Given the description of an element on the screen output the (x, y) to click on. 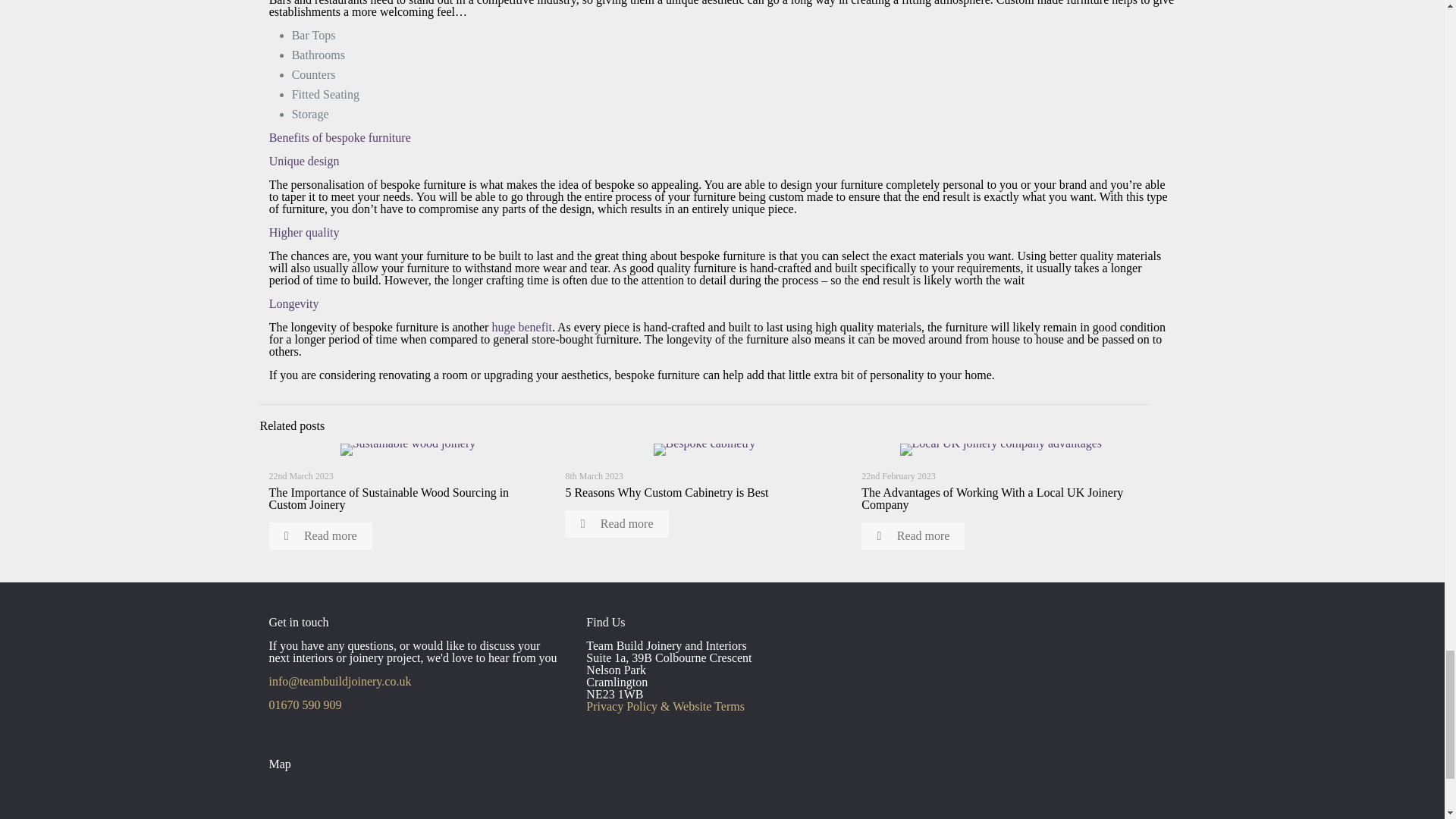
huge benefit (521, 327)
Read more (319, 535)
